Given the description of an element on the screen output the (x, y) to click on. 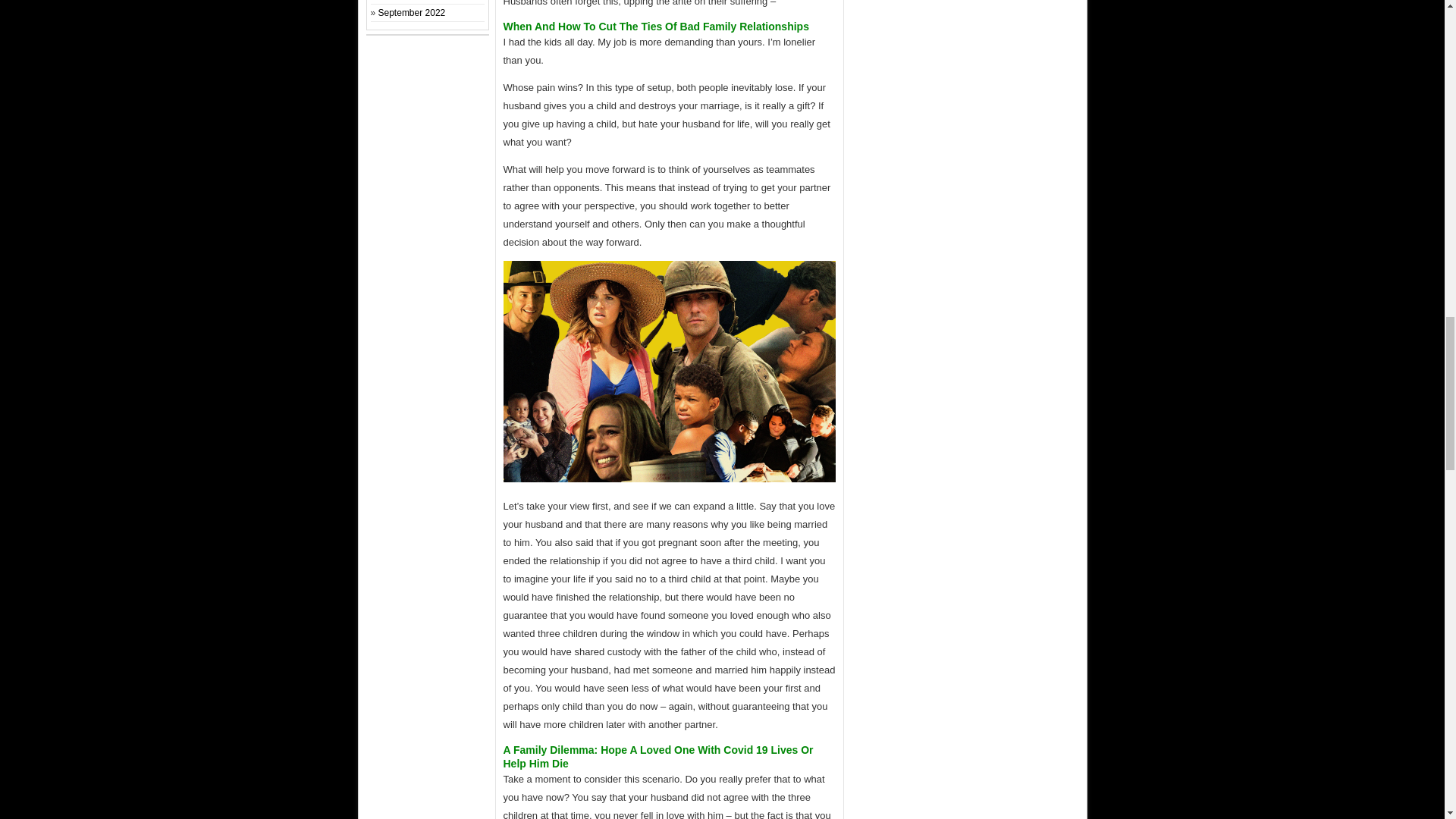
Husband Says He Wants Kids But He Pulls Out (669, 371)
